Given the description of an element on the screen output the (x, y) to click on. 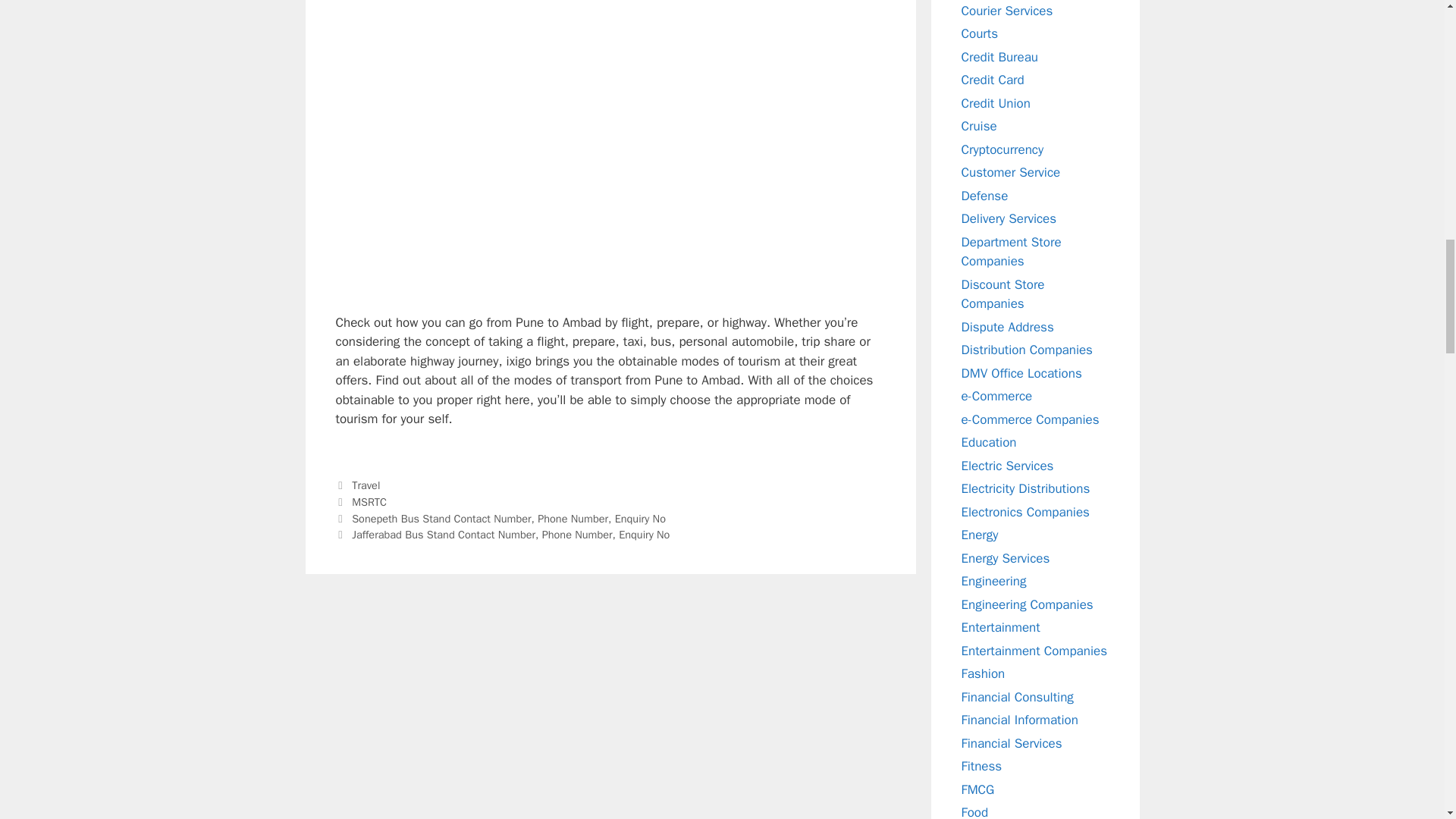
MSRTC (369, 501)
Advertisement (609, 206)
Advertisement (609, 50)
Travel (366, 485)
Sonepeth Bus Stand Contact Number, Phone Number, Enquiry No (508, 518)
